Given the description of an element on the screen output the (x, y) to click on. 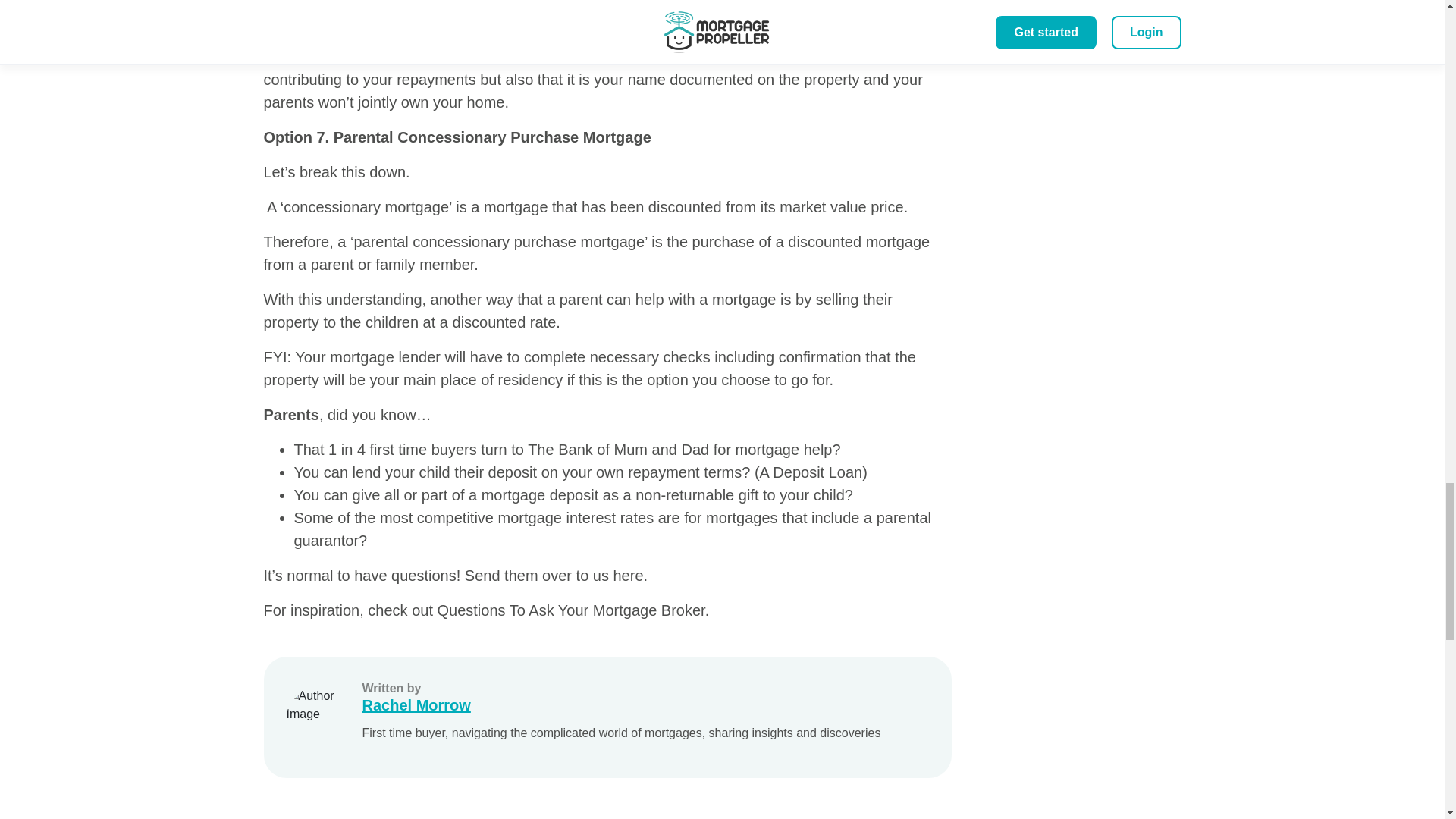
here (627, 575)
Rachel Morrow (621, 704)
Questions To Ask Your Mortgage Broker (570, 610)
rates (636, 517)
